Given the description of an element on the screen output the (x, y) to click on. 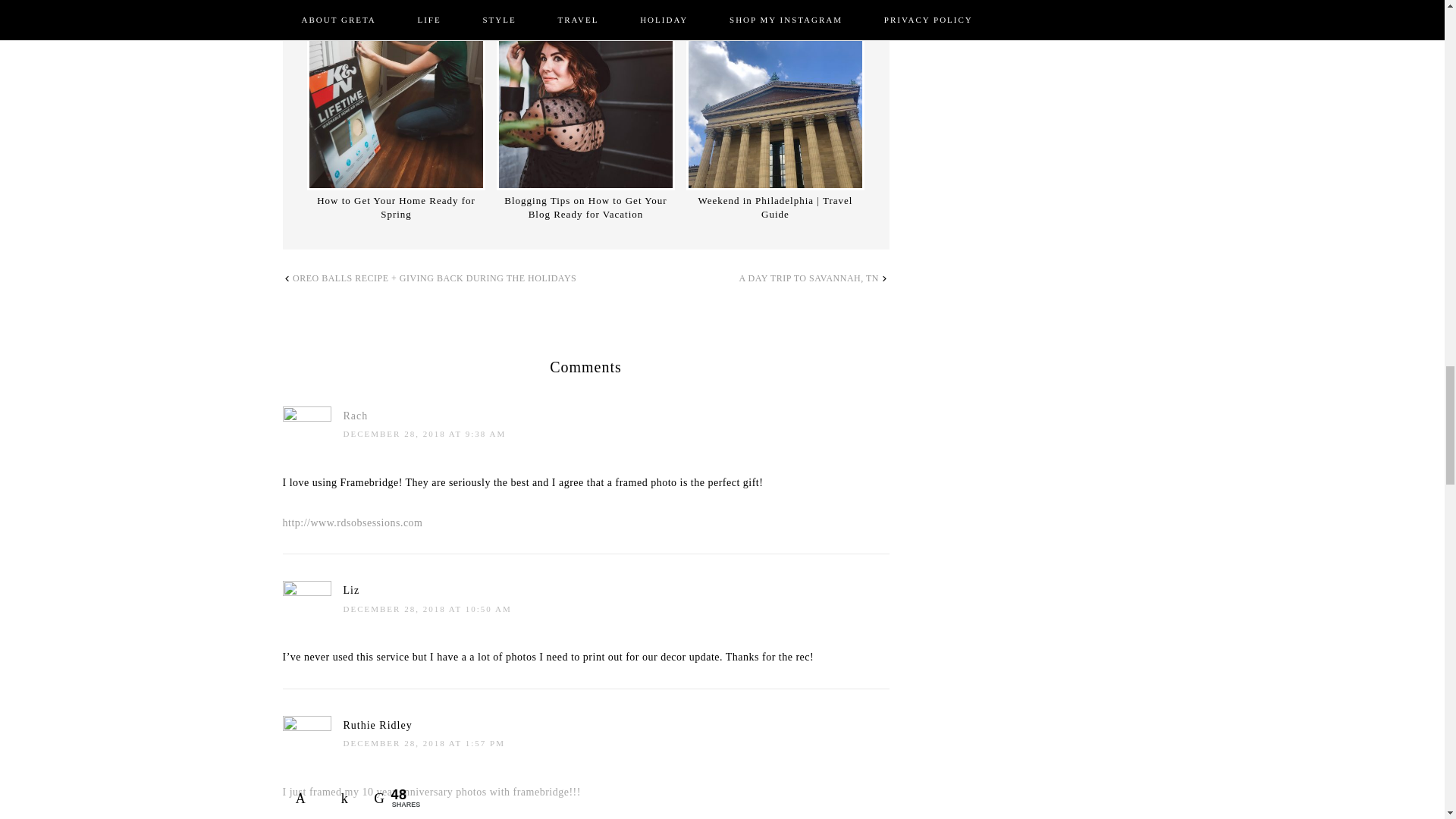
Permanent Link to How to Get Your Home Ready for Spring (395, 101)
Permanent Link to How to Get Your Home Ready for Spring (396, 207)
